Given the description of an element on the screen output the (x, y) to click on. 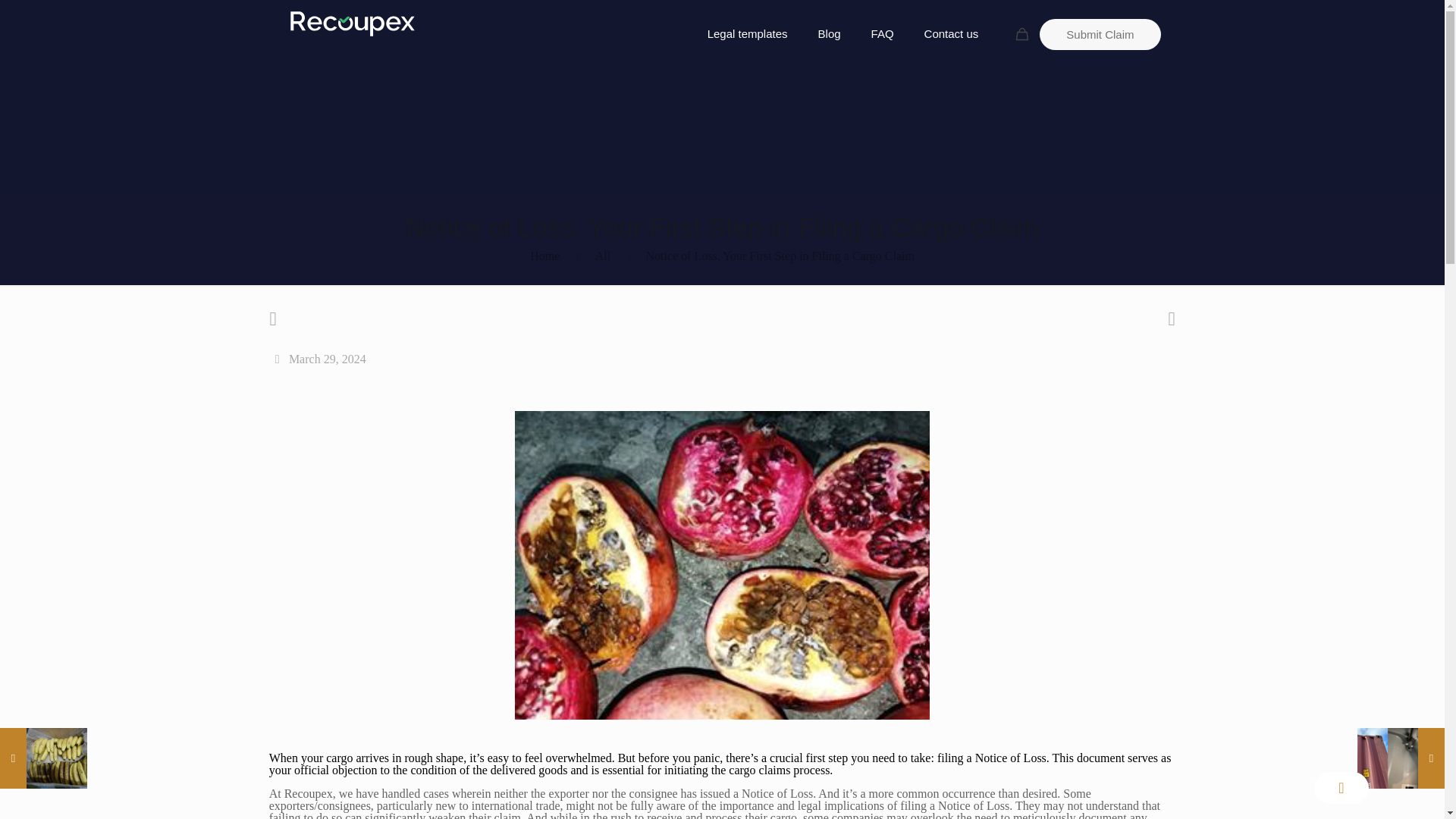
Recoupex (351, 22)
Home (544, 255)
All (602, 255)
Legal templates (748, 33)
Contact us (951, 33)
Submit Claim (1099, 33)
